Given the description of an element on the screen output the (x, y) to click on. 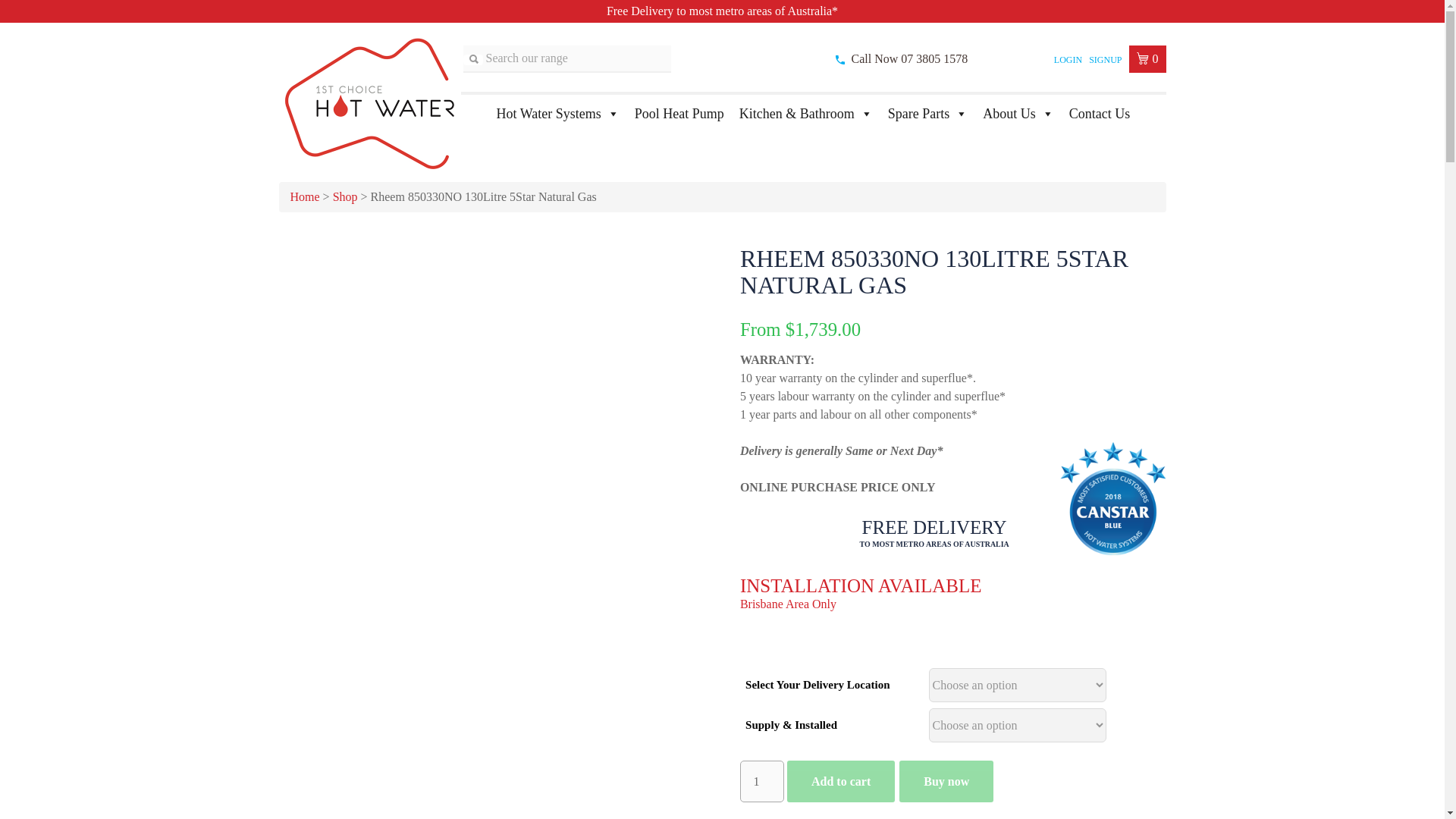
Signup (1105, 59)
SIGNUP (1105, 59)
Hot Water Systems (559, 112)
LOGIN (1067, 59)
Pool Heat Pump (679, 112)
0 (1146, 58)
1 (761, 781)
Search our range (472, 59)
Call Now 07 3805 1578 (909, 58)
Login (1067, 59)
